Given the description of an element on the screen output the (x, y) to click on. 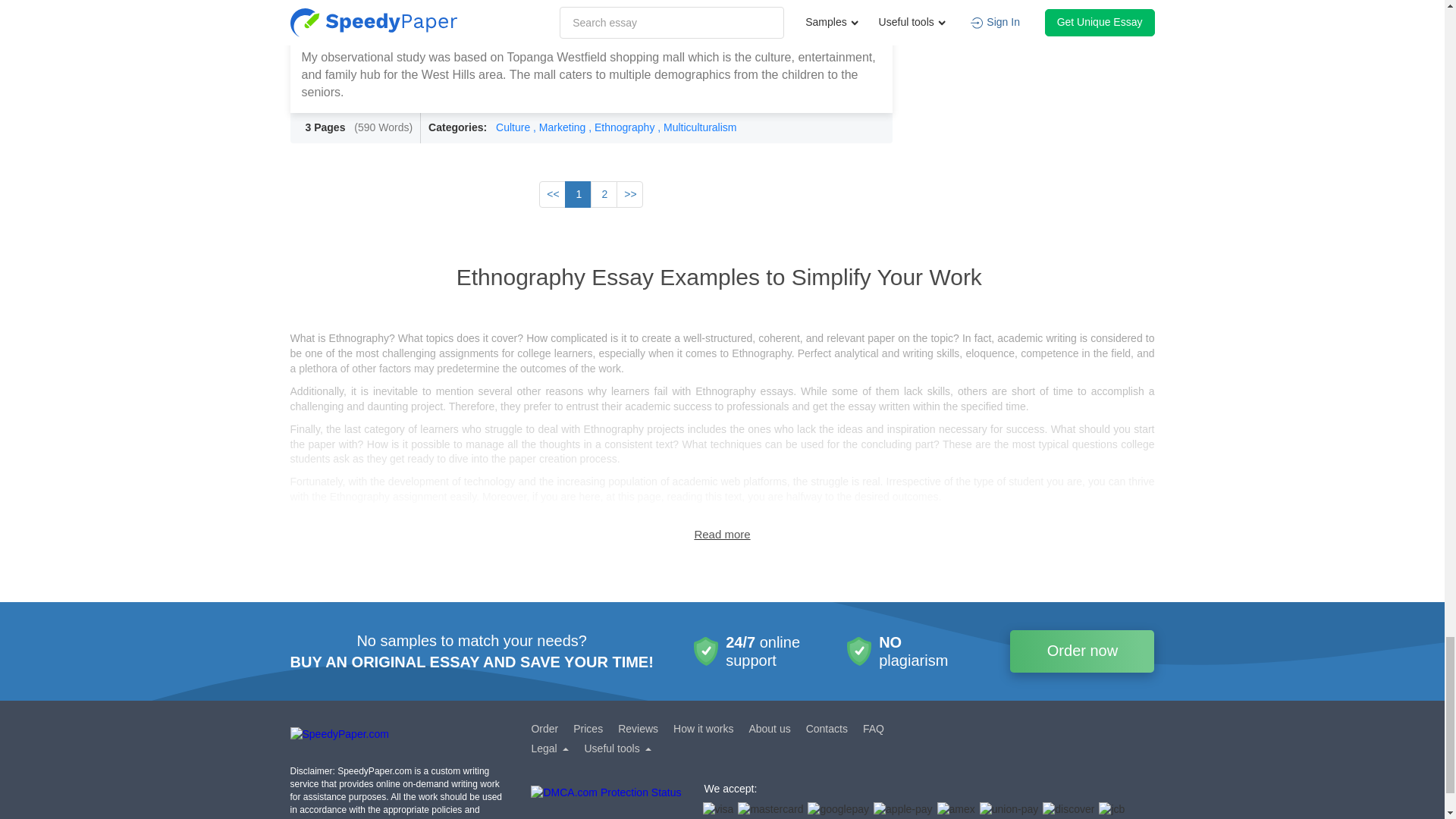
DMCA.com Protection Status (606, 802)
union-pay (1009, 809)
visa (717, 809)
discover (1068, 809)
jcb (1111, 809)
mastercard (770, 809)
googlepay (838, 809)
apple-pay (903, 809)
amex (956, 809)
on (721, 534)
